Given the description of an element on the screen output the (x, y) to click on. 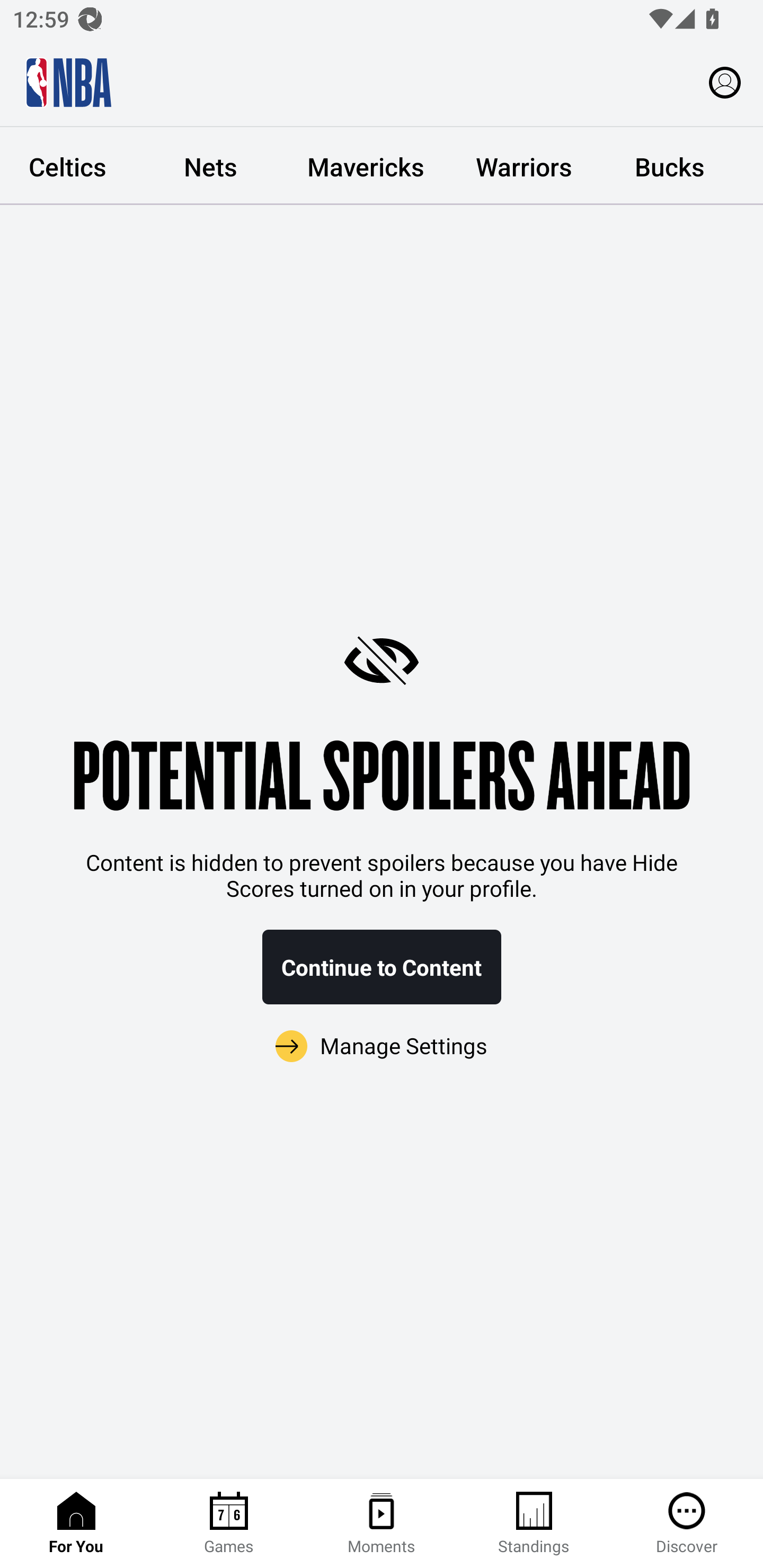
Profile (724, 81)
Celtics (69, 166)
Nets (209, 166)
Mavericks (365, 166)
Warriors (524, 166)
Bucks (669, 166)
Continue to Content (381, 967)
Manage Settings (381, 1046)
Games (228, 1523)
Moments (381, 1523)
Standings (533, 1523)
Discover (686, 1523)
